Given the description of an element on the screen output the (x, y) to click on. 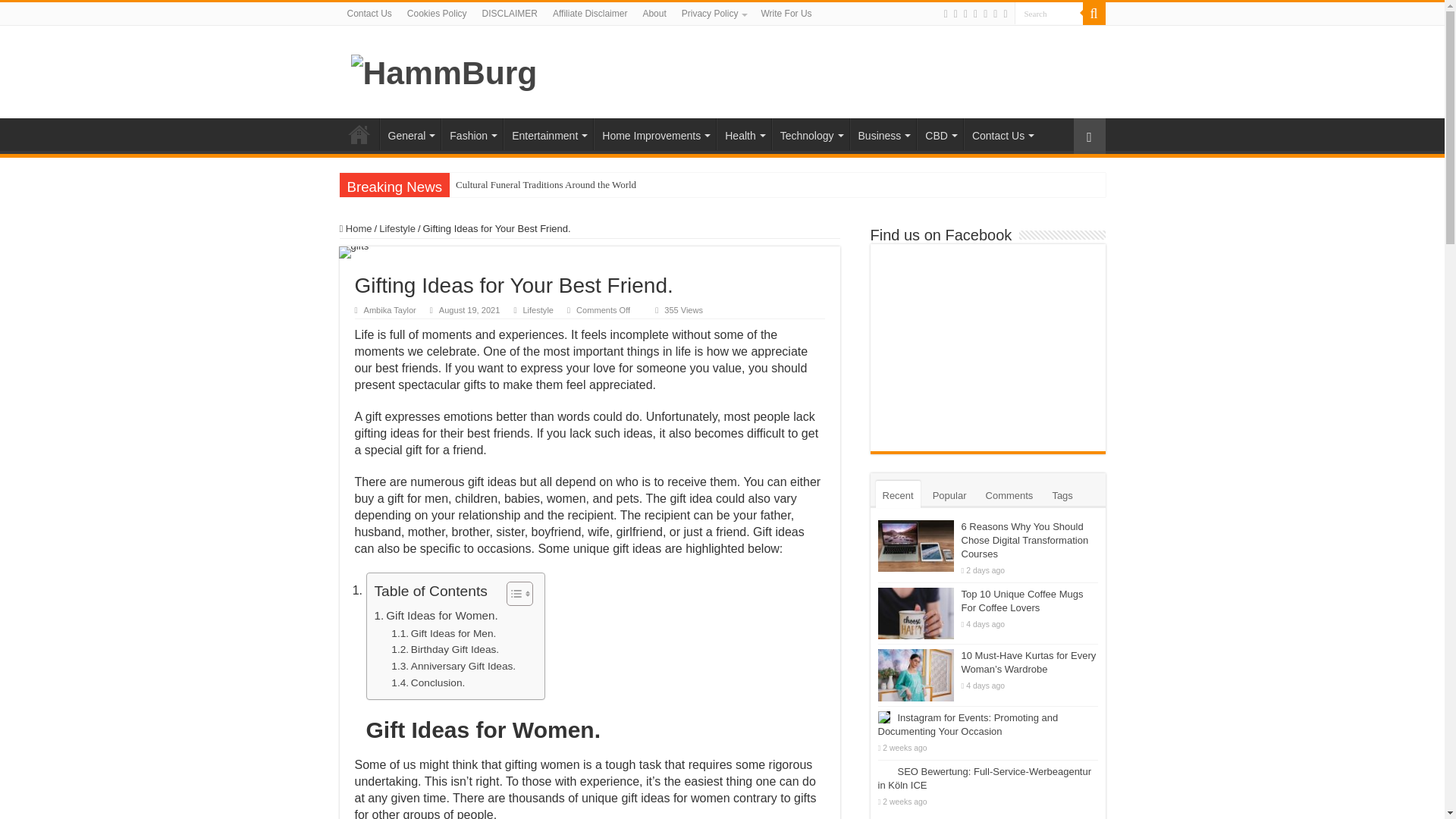
Search (1048, 13)
Search (1048, 13)
Search (1048, 13)
